Given the description of an element on the screen output the (x, y) to click on. 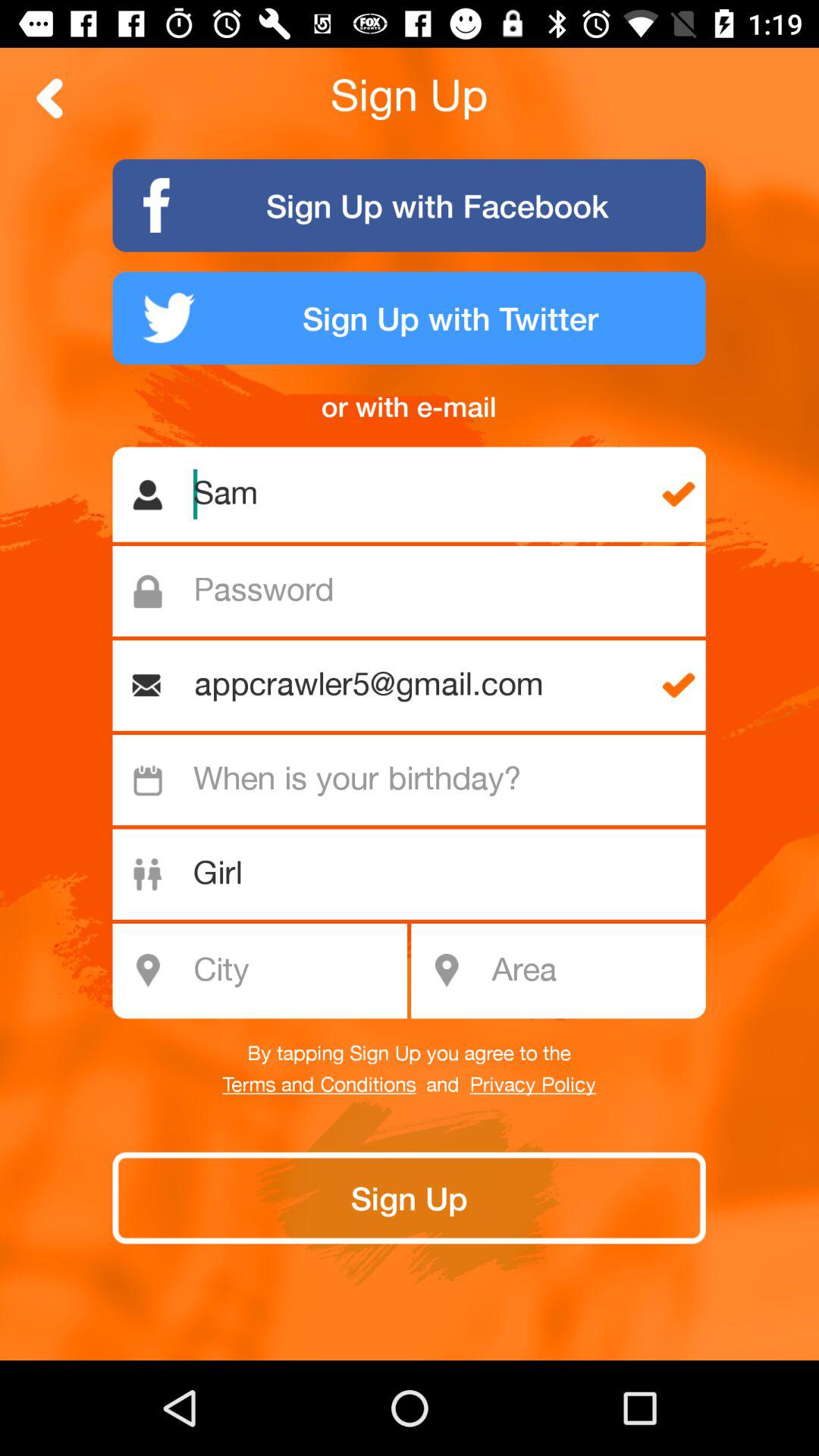
type your birthday (417, 779)
